Given the description of an element on the screen output the (x, y) to click on. 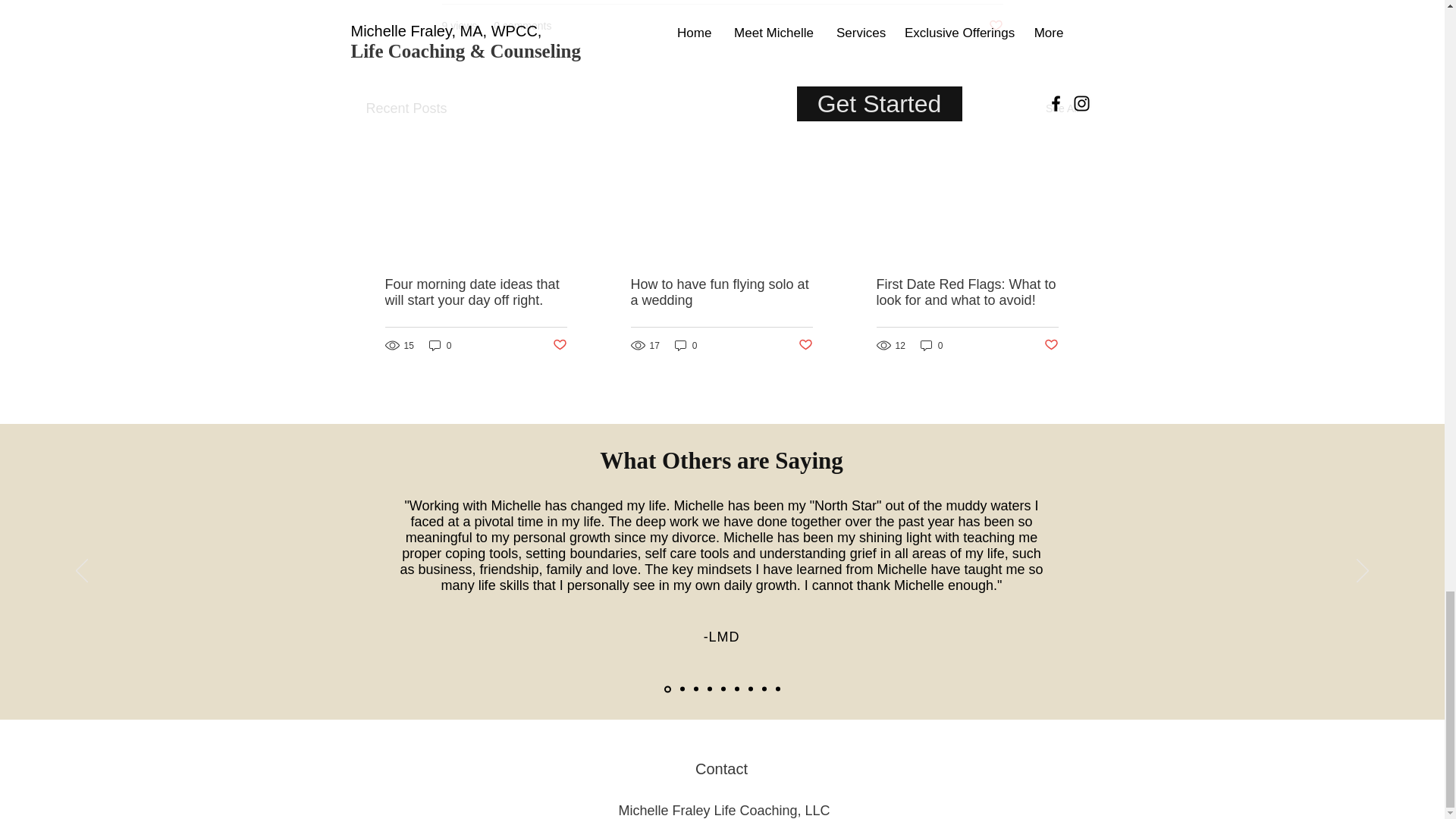
0 (931, 345)
Four morning date ideas that will start your day off right. (476, 292)
Post not marked as liked (995, 26)
First Date Red Flags: What to look for and what to avoid! (967, 292)
Post not marked as liked (1050, 344)
How to have fun flying solo at a wedding (721, 292)
Post not marked as liked (558, 344)
See All (1061, 108)
0 (440, 345)
Post not marked as liked (804, 344)
0 (685, 345)
